Given the description of an element on the screen output the (x, y) to click on. 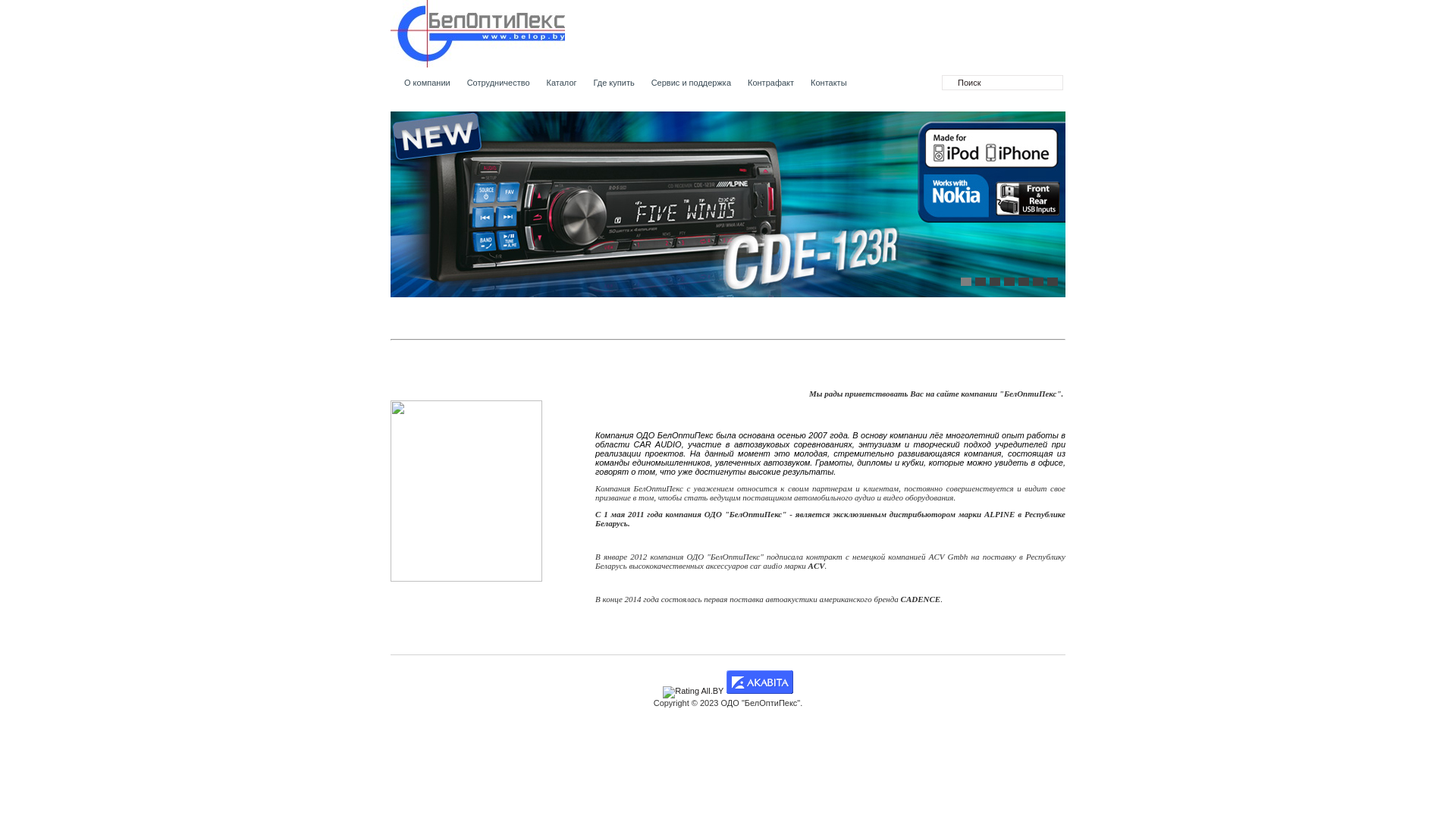
3 Element type: text (994, 281)
CADENCE Element type: text (920, 598)
4 Element type: text (1009, 281)
ACV Element type: text (816, 565)
5 Element type: text (1023, 281)
7 Element type: text (1052, 281)
ALPINE Element type: text (999, 513)
6 Element type: text (1037, 281)
2 Element type: text (980, 281)
1 Element type: text (965, 281)
